Given the description of an element on the screen output the (x, y) to click on. 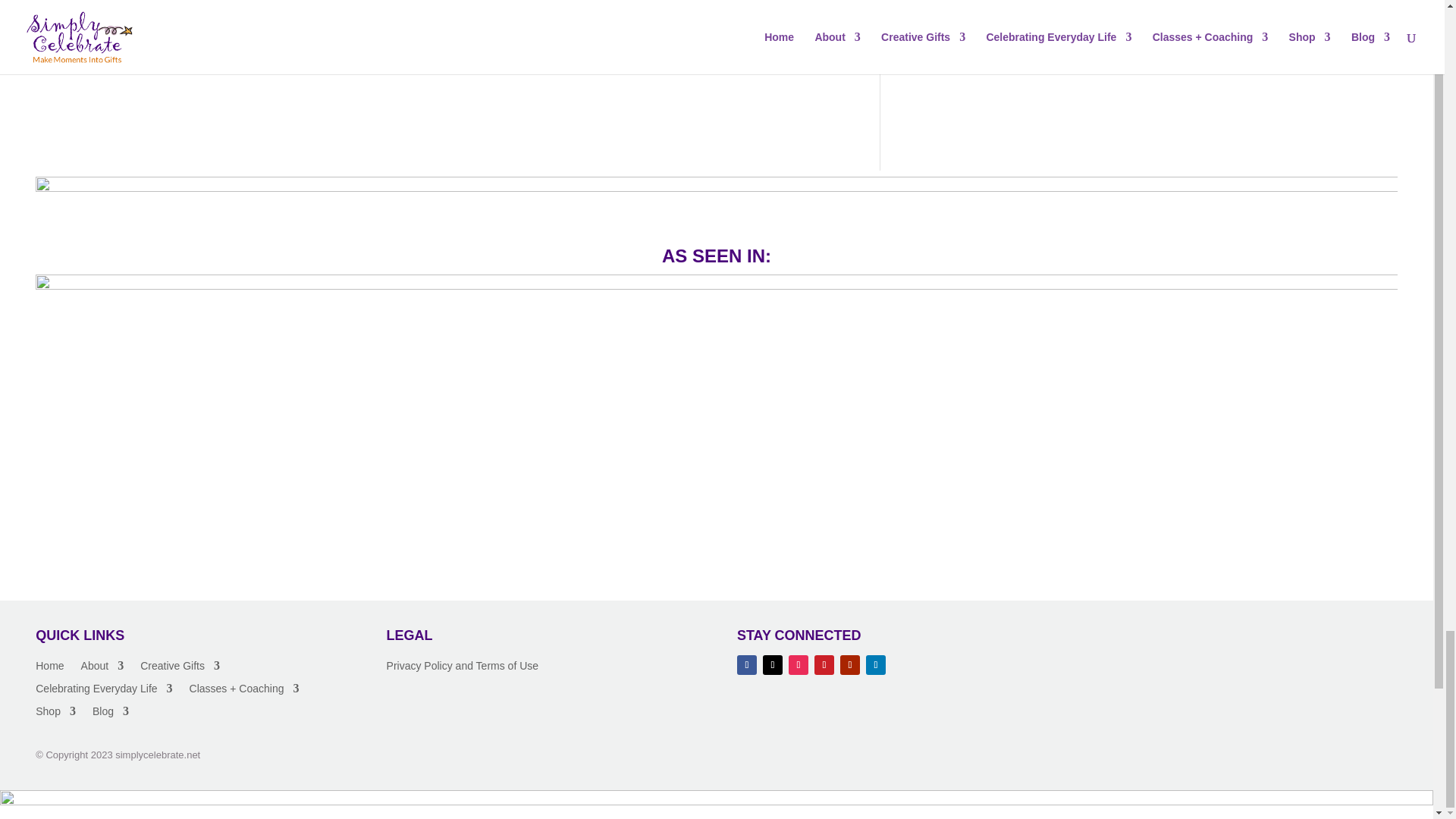
Follow on Instagram (798, 664)
Submit Comment (780, 31)
Follow on Pinterest (823, 664)
Follow on Facebook (746, 664)
Screen Shot 2022-01-27 at 7.51.22 PM (715, 199)
Follow on Youtube (850, 664)
Follow on X (772, 664)
Follow on LinkedIn (875, 664)
